Given the description of an element on the screen output the (x, y) to click on. 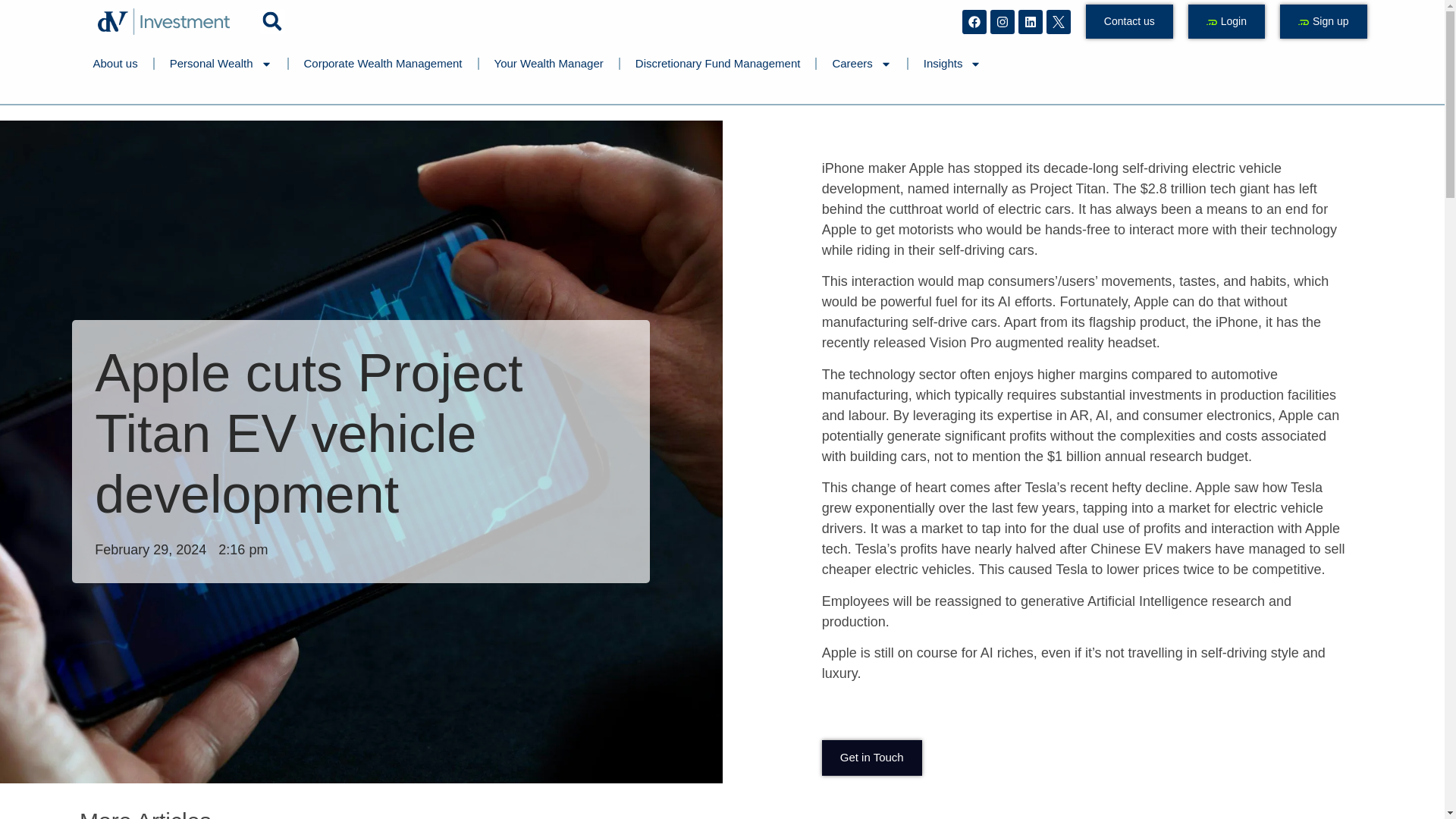
Sign up (1323, 21)
Discretionary Fund Management (717, 63)
Careers (860, 63)
Corporate Wealth Management (382, 63)
Insights (952, 63)
About us (114, 63)
Login (1226, 21)
Contact us (1129, 21)
Your Wealth Manager (548, 63)
Personal Wealth (220, 63)
